Given the description of an element on the screen output the (x, y) to click on. 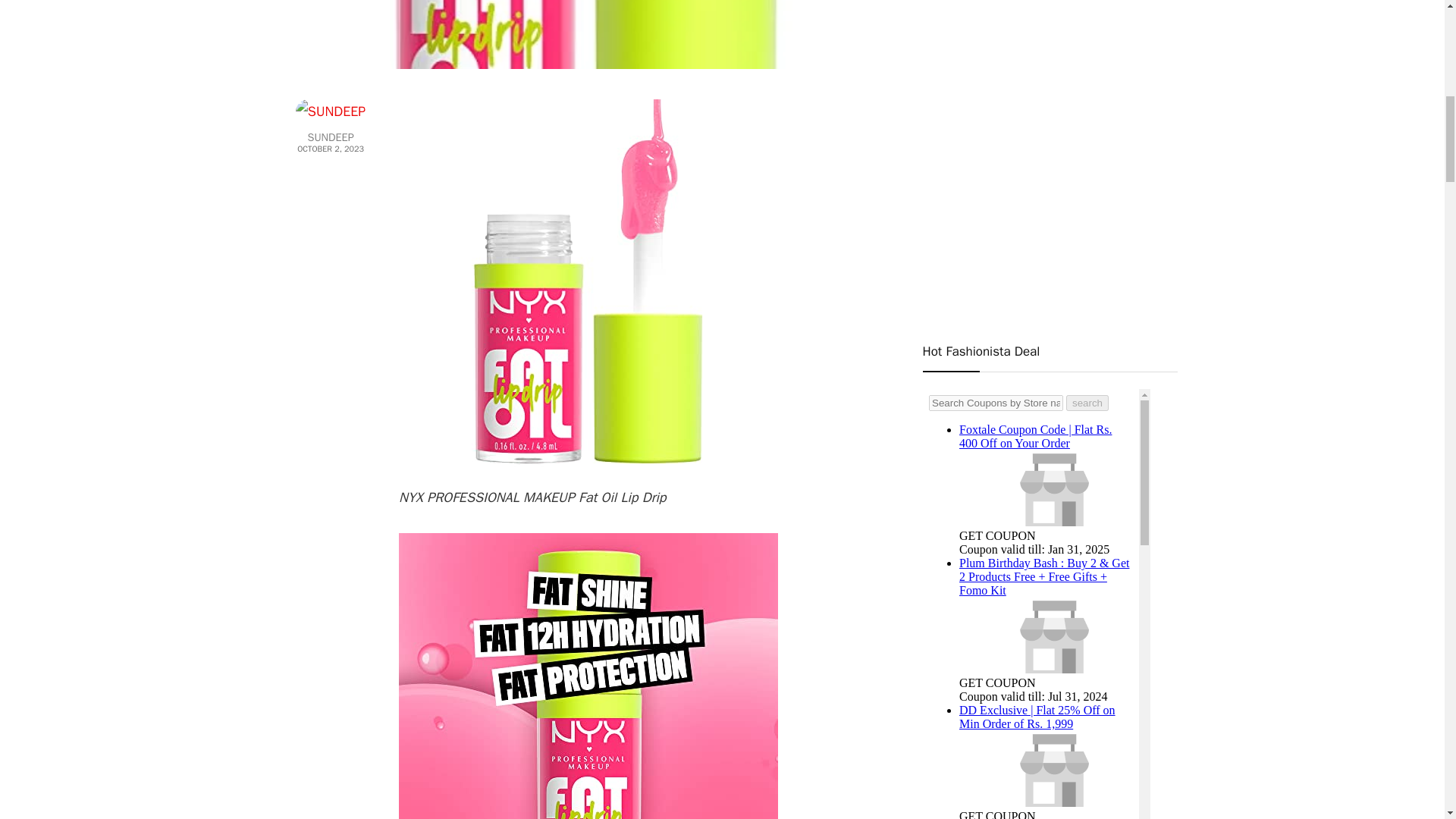
SUNDEEP (330, 137)
